Given the description of an element on the screen output the (x, y) to click on. 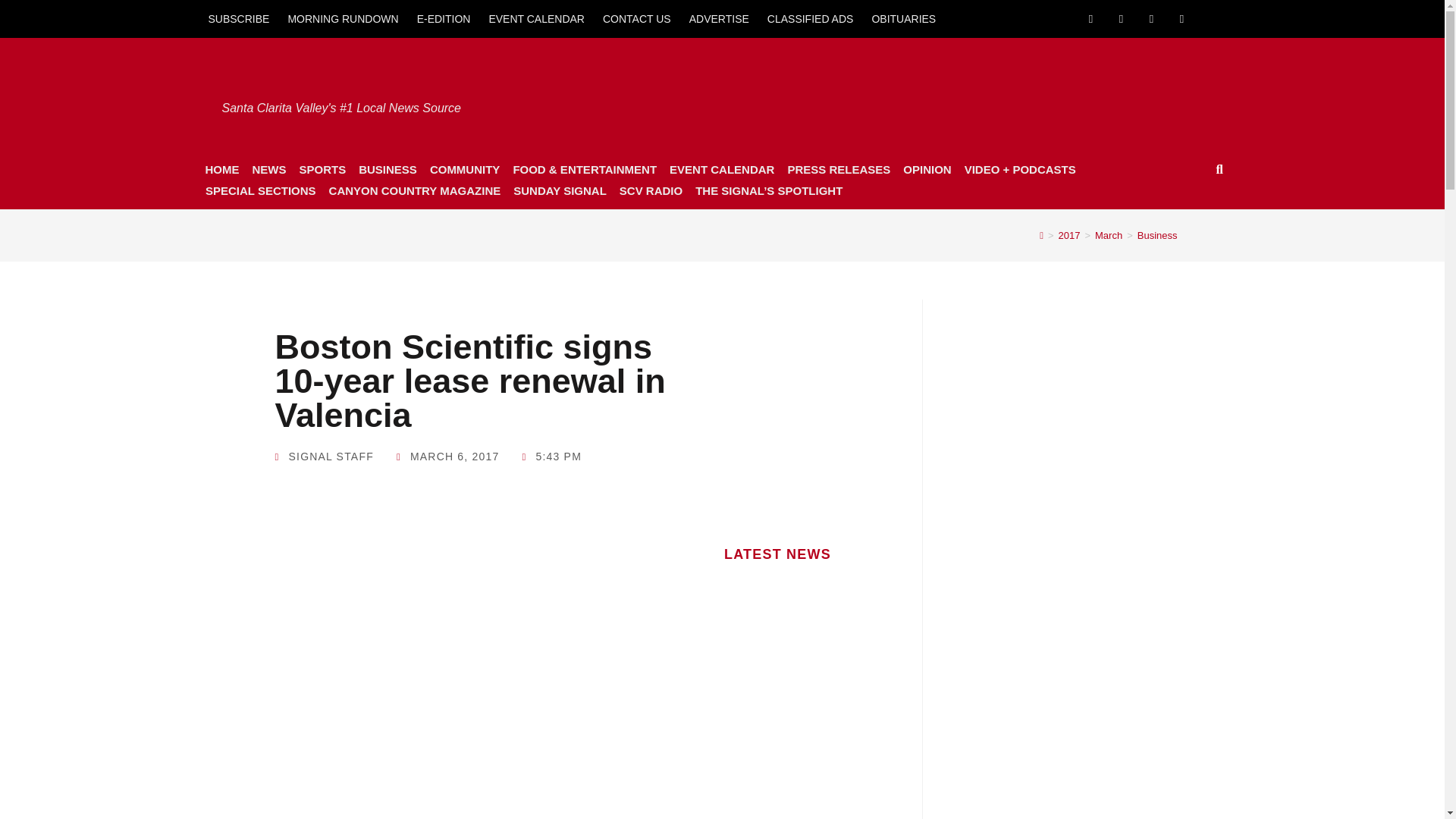
SUBSCRIBE (238, 18)
MORNING RUNDOWN (342, 18)
CLASSIFIED ADS (810, 18)
ADVERTISE (718, 18)
OBITUARIES (902, 18)
E-EDITION (443, 18)
HOME (221, 169)
EVENT CALENDAR (536, 18)
SPORTS (322, 169)
CONTACT US (636, 18)
NEWS (269, 169)
